Given the description of an element on the screen output the (x, y) to click on. 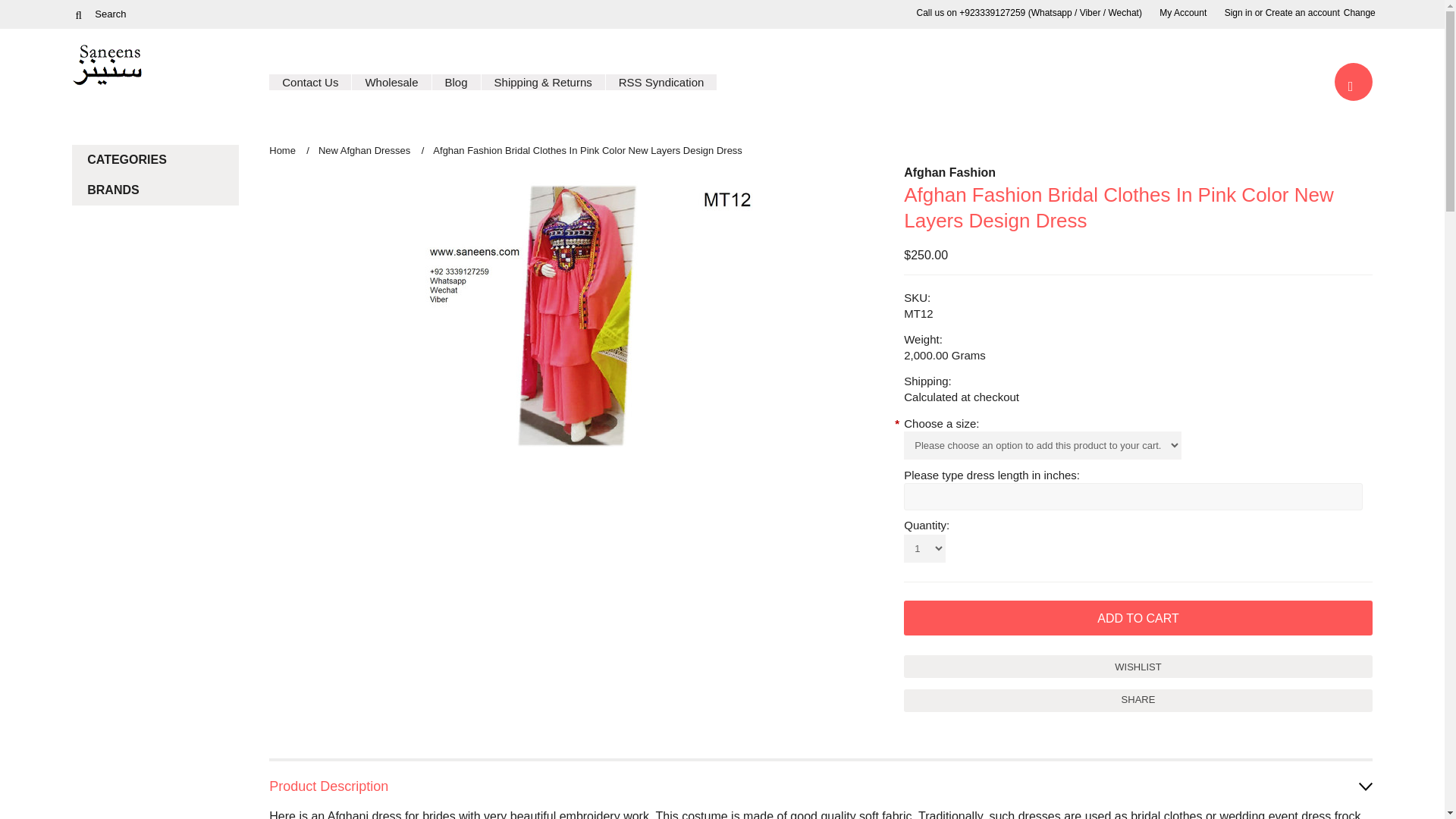
Wishlist (1138, 666)
Search (145, 13)
Search (77, 14)
Add To Cart (1138, 617)
View Cart (1354, 81)
Add to Wish List (1138, 666)
View Cart (1351, 84)
new layers design dress, afghan clothes (571, 315)
